Given the description of an element on the screen output the (x, y) to click on. 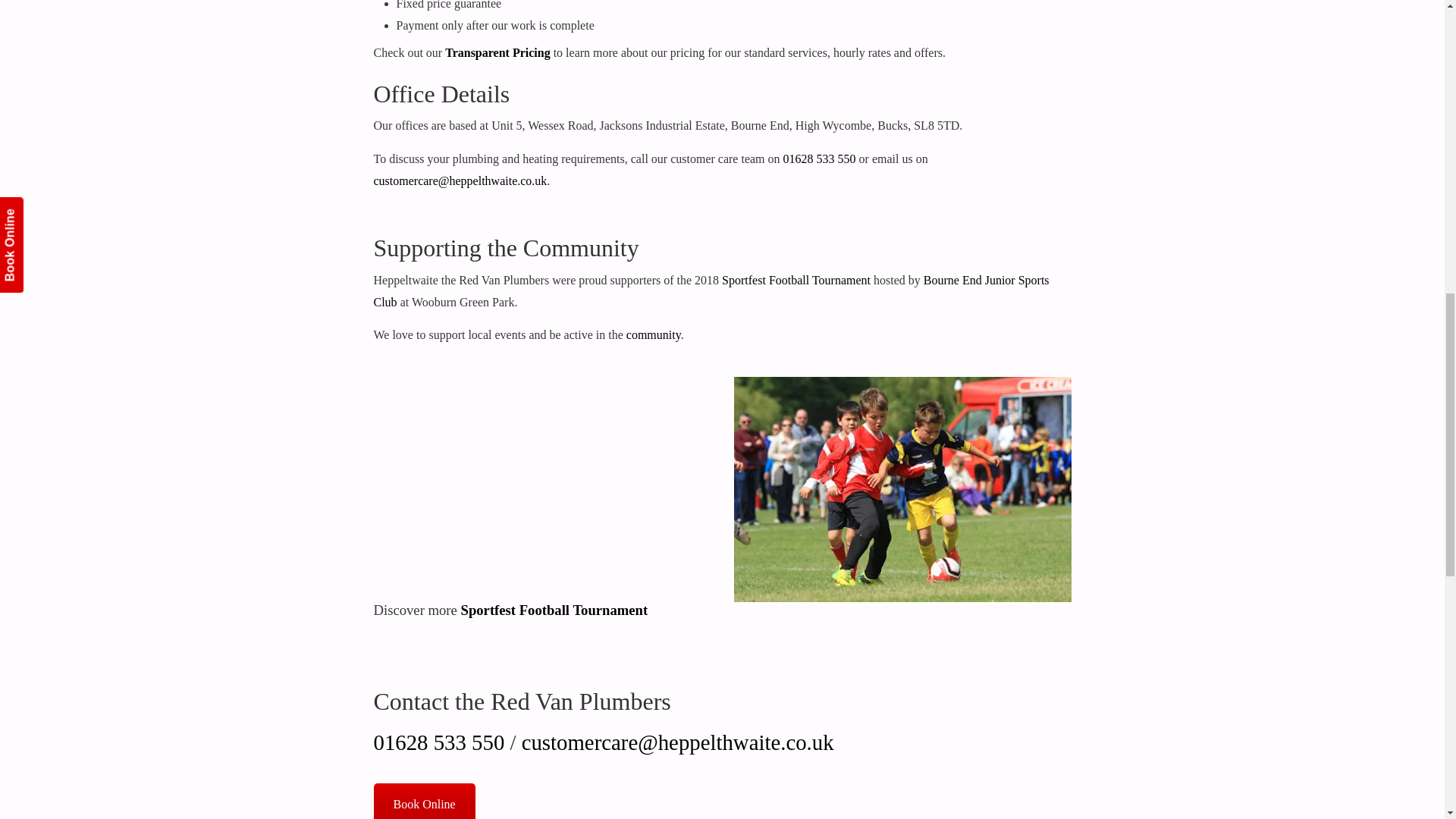
Sportfest Football Tournament (554, 609)
Transparent Pricing (497, 51)
Sportfest Football Tournament (796, 279)
Book Online (423, 800)
Bourne End Junior Sports Club (710, 290)
community (653, 334)
Sportsfest Red Van Plumbers (902, 488)
SPORTSFEST FOOTBALL TOURNAMENT 2018 (541, 471)
01628 533 550 (819, 158)
01628 533 550 (437, 742)
